Given the description of an element on the screen output the (x, y) to click on. 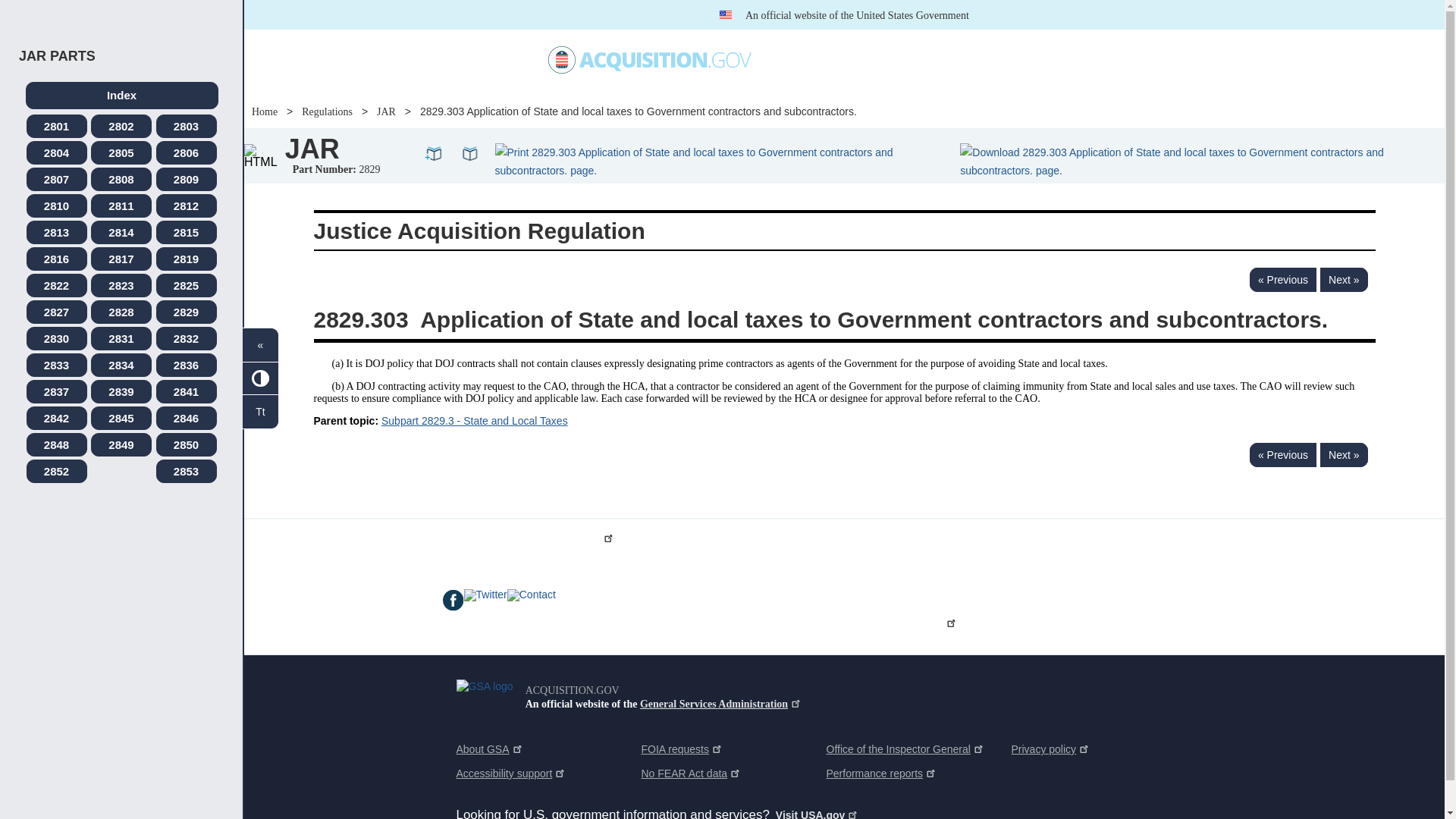
Next (1343, 279)
Tools (958, 60)
Data Initiatives (803, 59)
Regulations (890, 59)
Add Bookmark (433, 152)
Open bookmarks. (470, 152)
Previous (1282, 279)
Data Initiatives (803, 59)
